Given the description of an element on the screen output the (x, y) to click on. 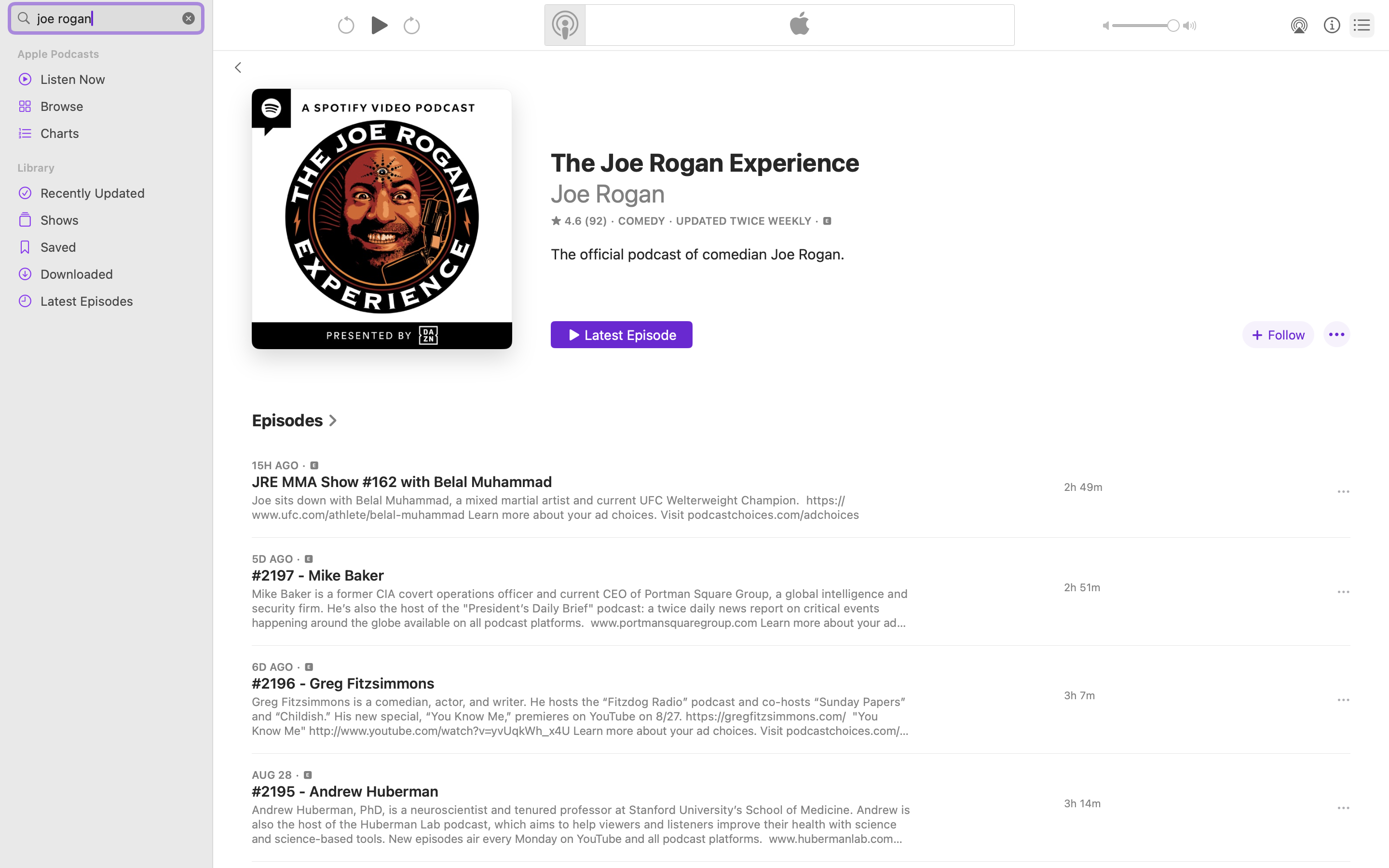
1.0 Element type: AXSlider (1145, 25)
joe rogan Element type: AXTextField (105, 17)
